Given the description of an element on the screen output the (x, y) to click on. 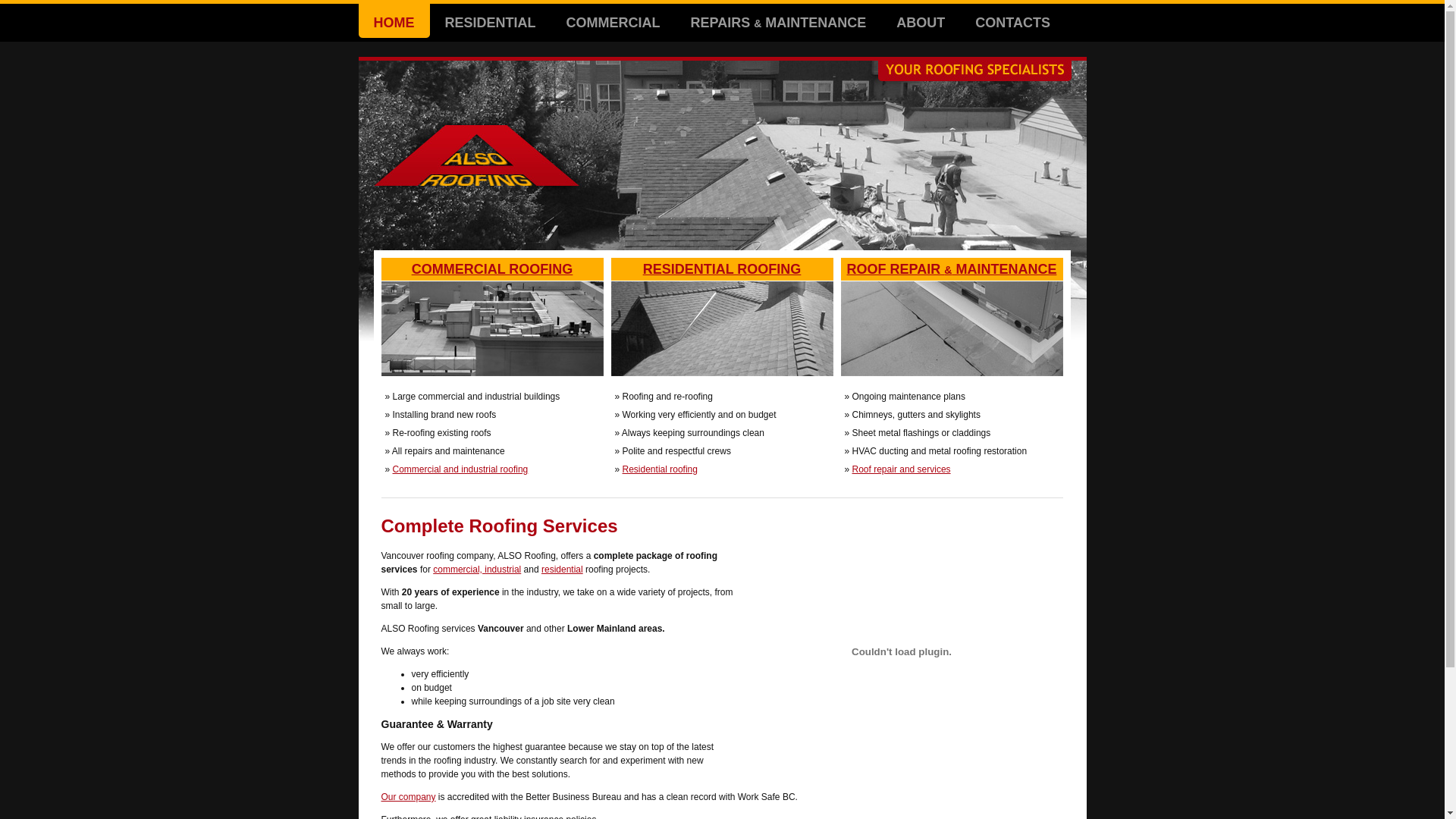
RESIDENTIAL Element type: text (489, 22)
Roof repair and services Element type: text (901, 469)
Back to home page Element type: hover (475, 192)
HOME Element type: text (393, 22)
commercial, industrial Element type: text (476, 569)
ABOUT Element type: text (920, 22)
Residential roofing Element type: text (659, 469)
ROOF REPAIR & MAINTENANCE Element type: text (951, 317)
residential Element type: text (562, 569)
REPAIRS & MAINTENANCE Element type: text (778, 22)
Our company Element type: text (407, 796)
RESIDENTIAL ROOFING Element type: text (722, 317)
CONTACTS Element type: text (1012, 22)
COMMERCIAL Element type: text (613, 22)
COMMERCIAL ROOFING Element type: text (491, 317)
Commercial and industrial roofing Element type: text (460, 469)
